Given the description of an element on the screen output the (x, y) to click on. 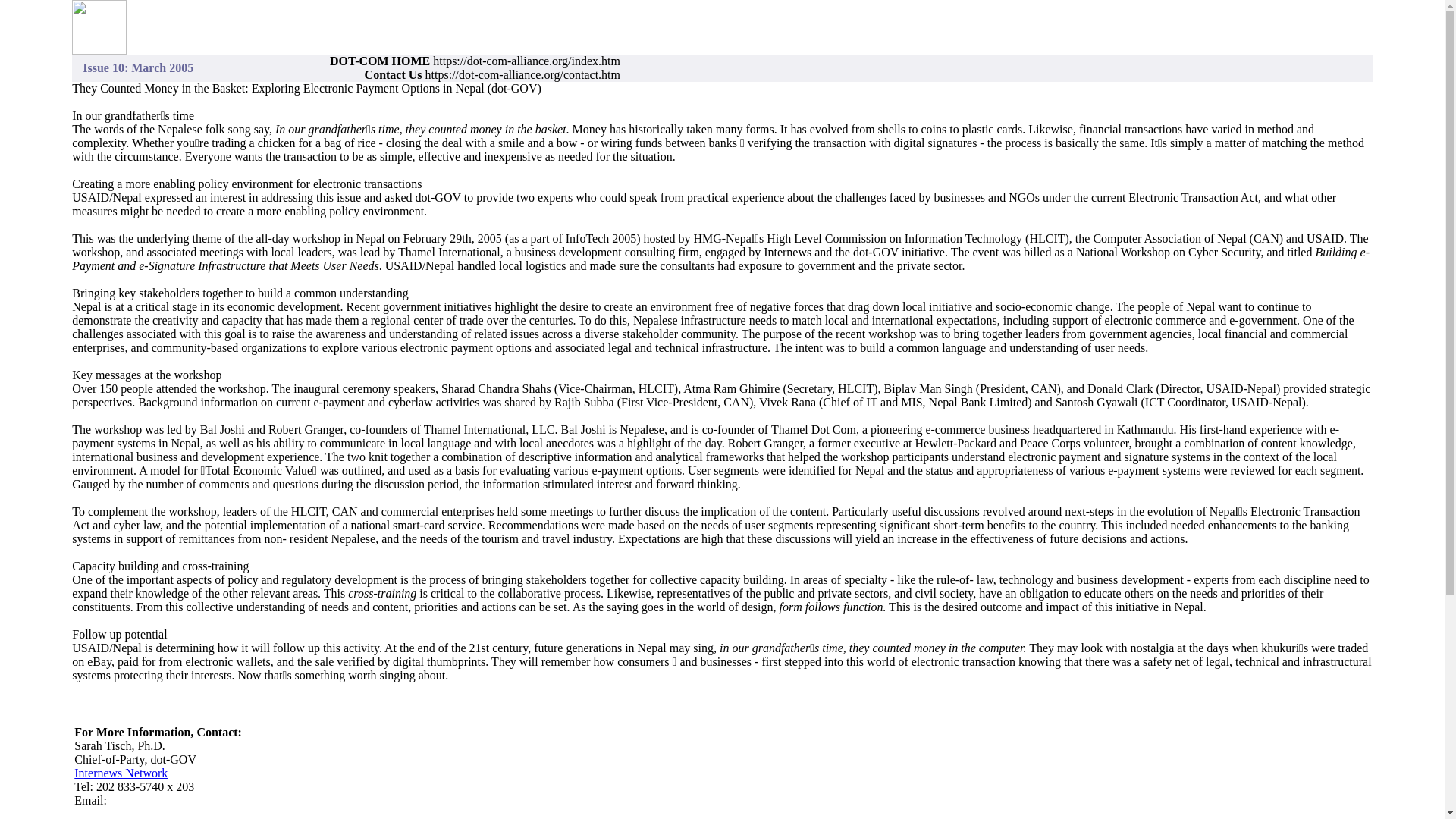
Internews Network (120, 772)
